Given the description of an element on the screen output the (x, y) to click on. 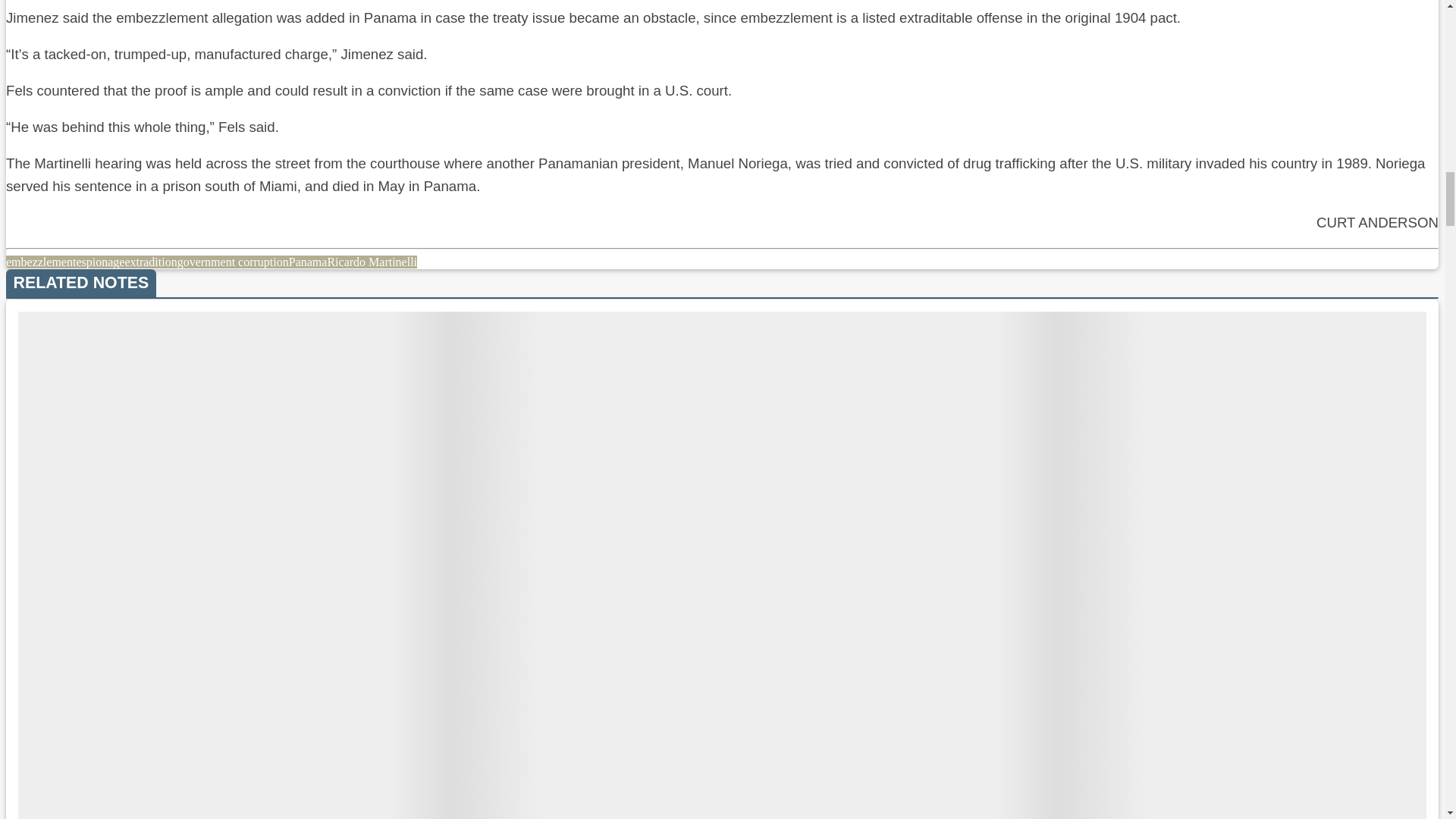
espionage (99, 261)
embezzlement (40, 261)
extradition (149, 261)
Ricardo Martinelli (371, 261)
Panama (307, 261)
government corruption (232, 261)
